Given the description of an element on the screen output the (x, y) to click on. 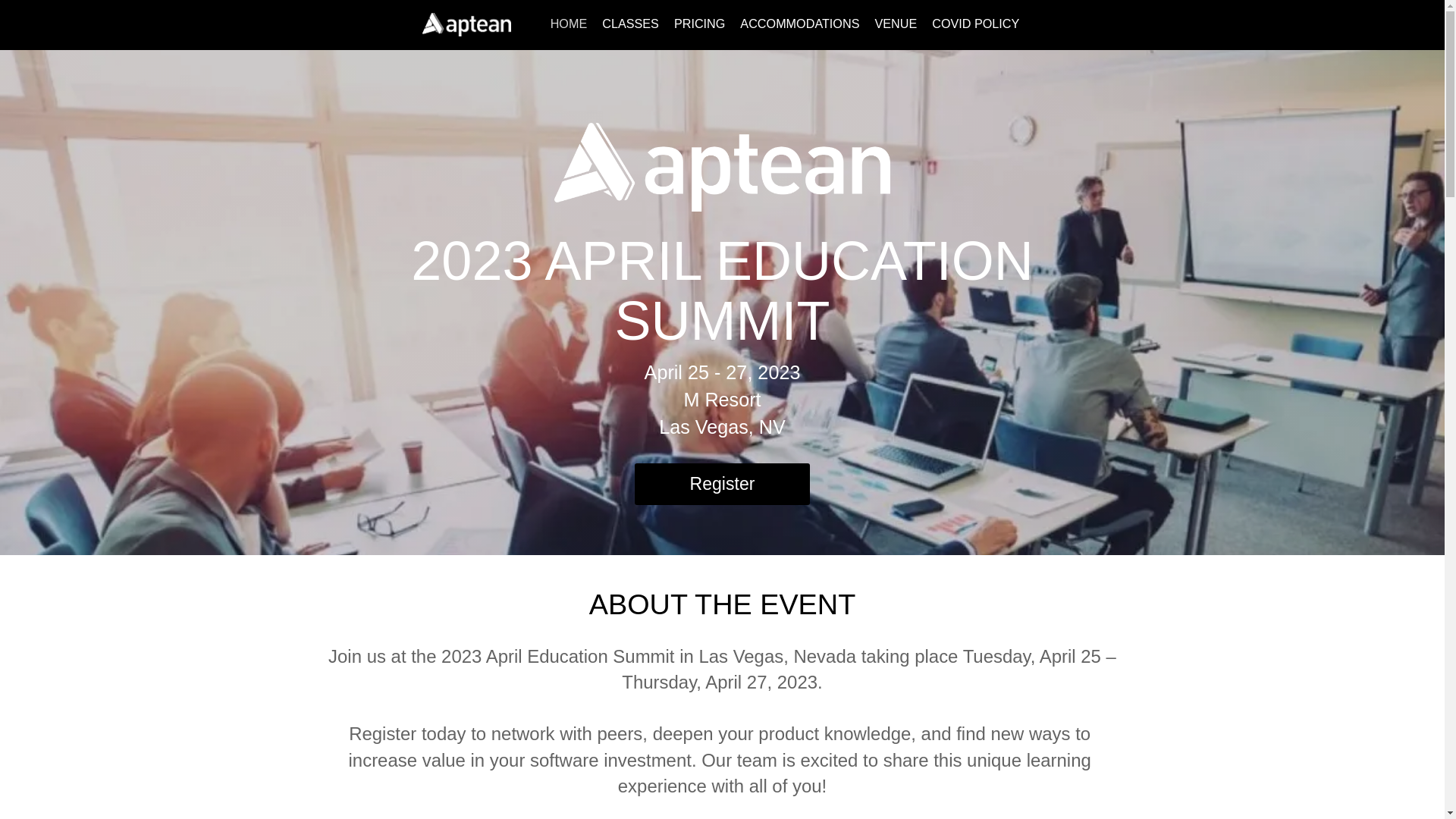
PRICING (699, 22)
COVID POLICY (975, 22)
ACCOMMODATIONS (799, 22)
HOME (569, 22)
CLASSES (630, 22)
VENUE (895, 22)
Register (722, 484)
